Given the description of an element on the screen output the (x, y) to click on. 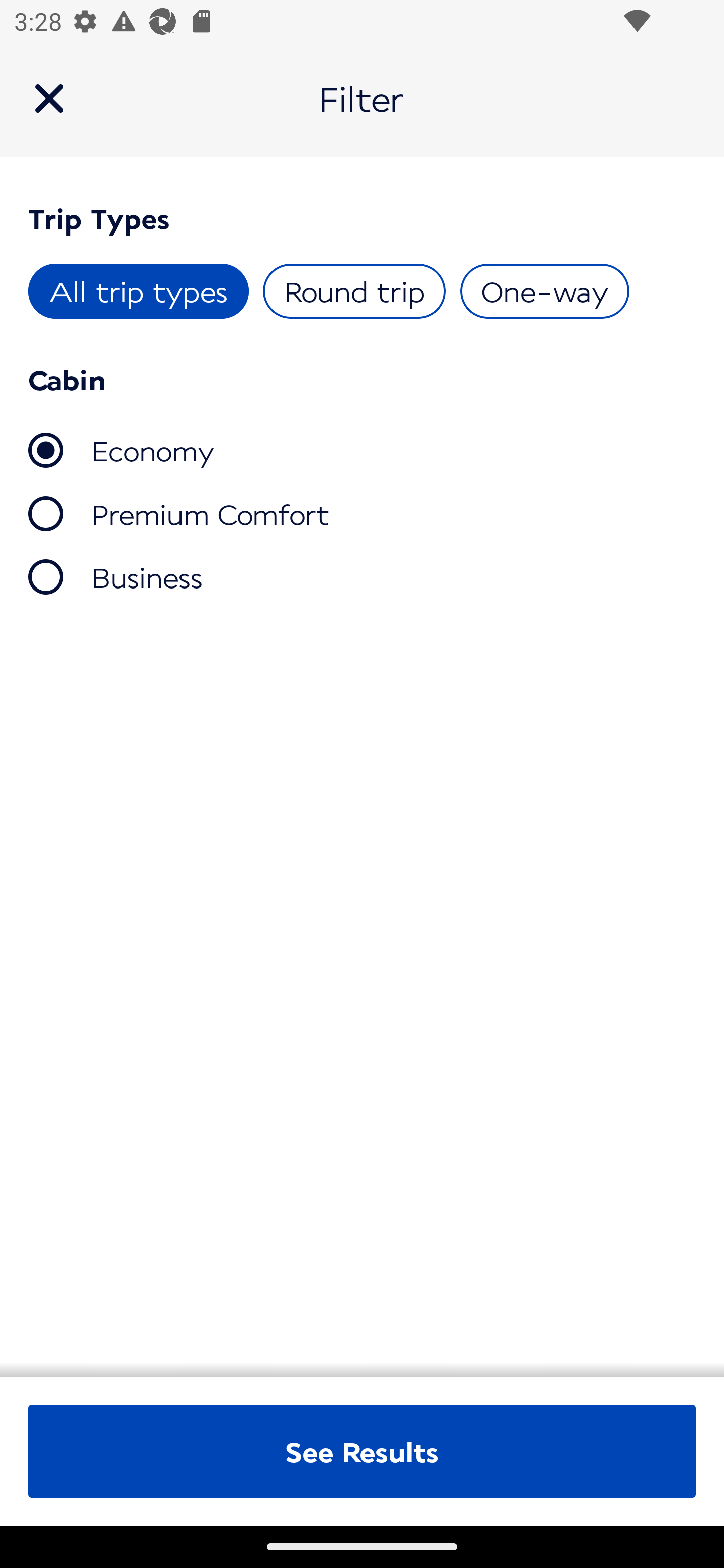
All trip types (138, 291)
Round trip (353, 291)
One-way (544, 291)
See Results (361, 1450)
